Given the description of an element on the screen output the (x, y) to click on. 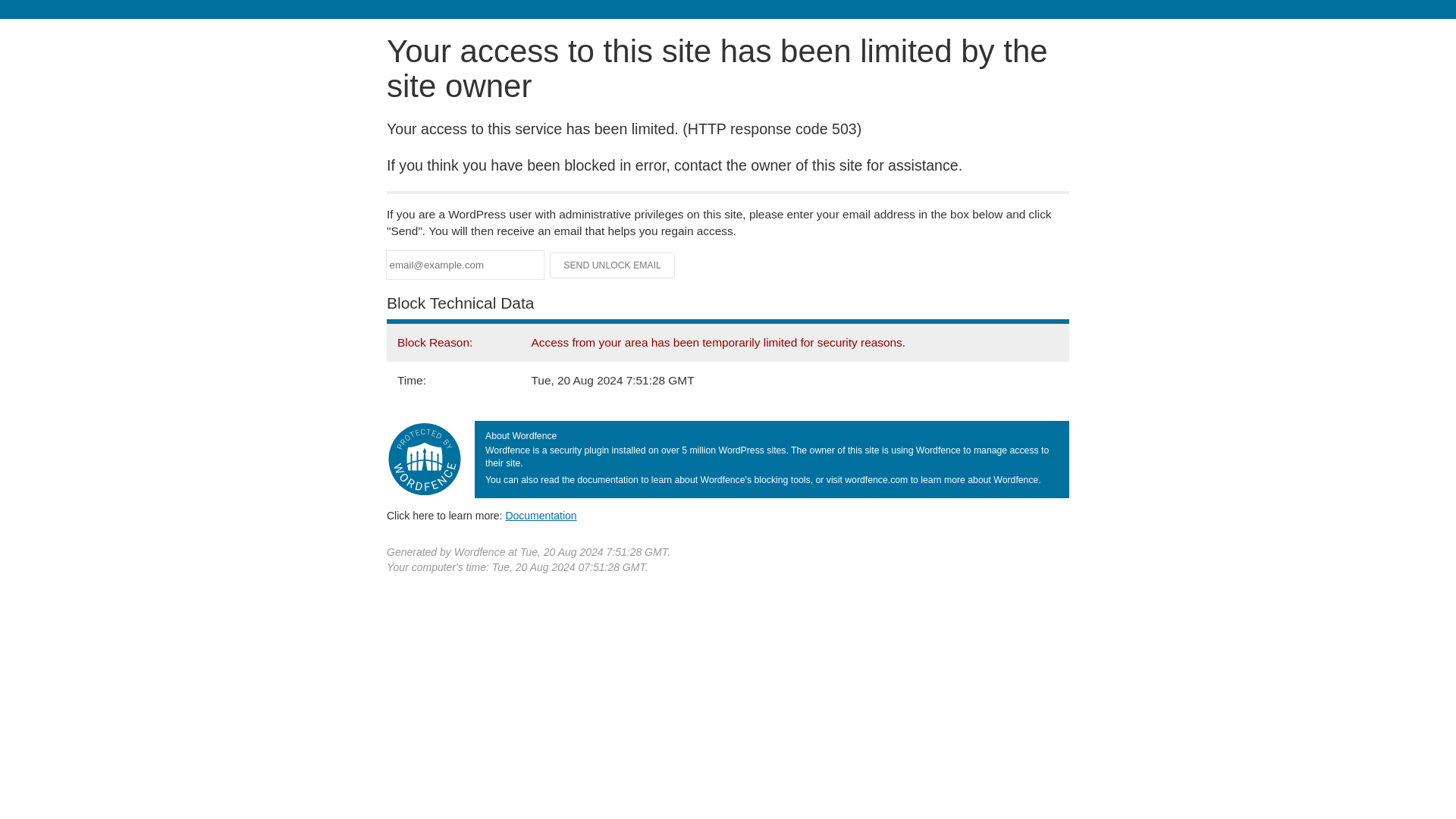
Documentation (540, 515)
Send Unlock Email (612, 265)
Send Unlock Email (612, 265)
